Given the description of an element on the screen output the (x, y) to click on. 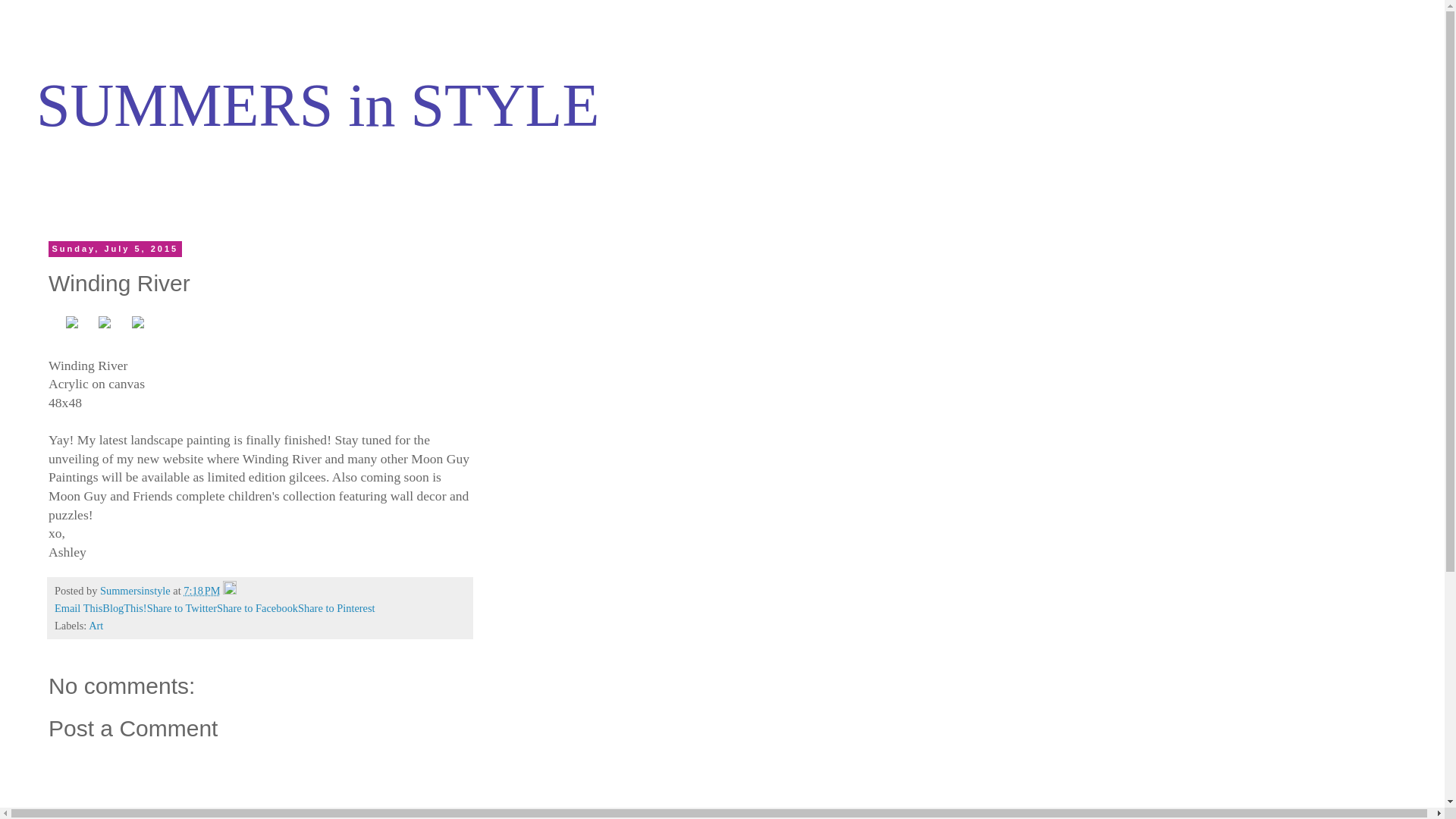
Edit Post (228, 590)
author profile (136, 590)
Email This (78, 607)
Share to Twitter (181, 607)
Share to Twitter (181, 607)
Share to Facebook (257, 607)
Share to Facebook (257, 607)
Share to Pinterest (336, 607)
permanent link (201, 590)
BlogThis! (124, 607)
